Given the description of an element on the screen output the (x, y) to click on. 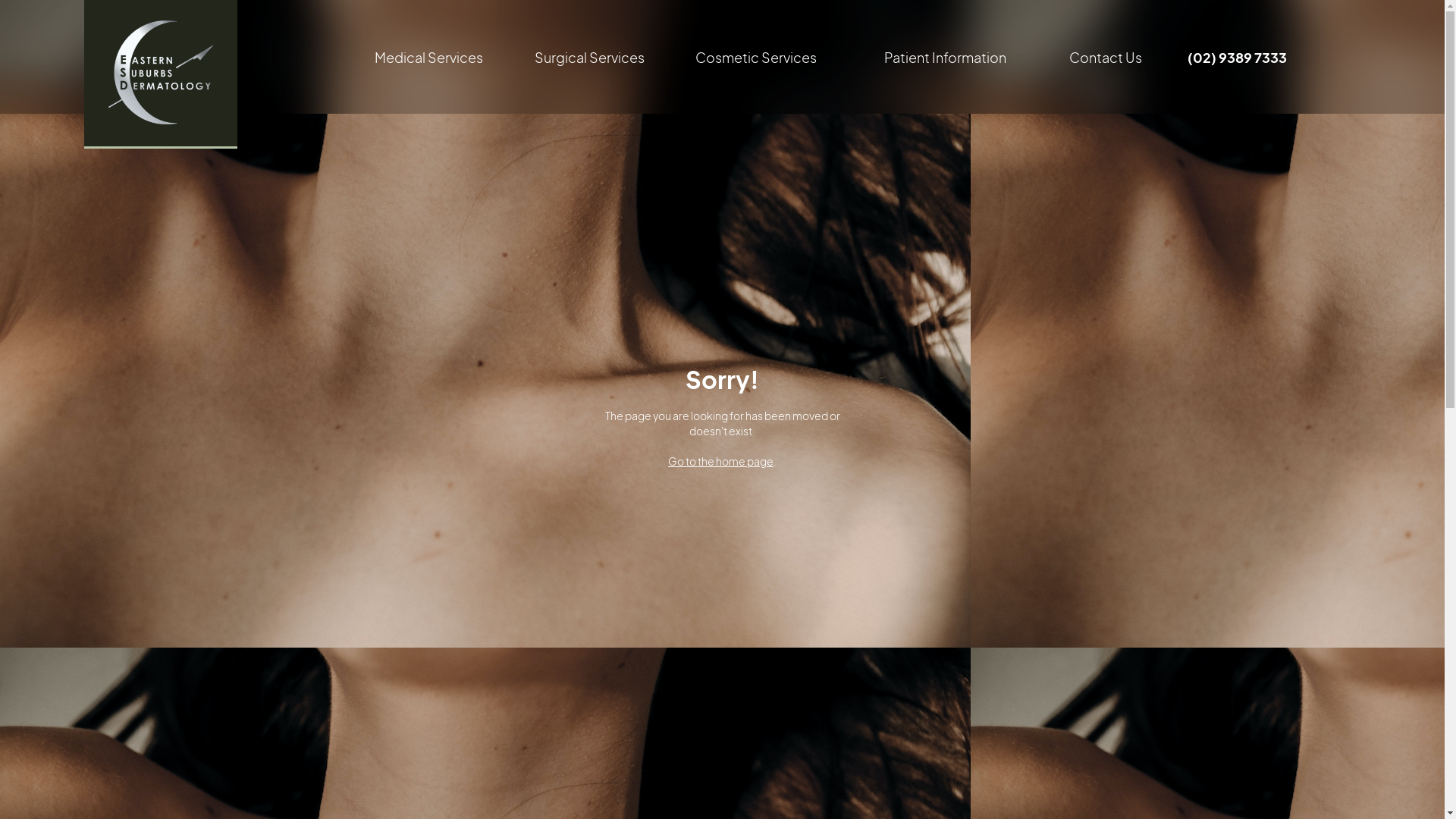
Go to the home page Element type: text (720, 460)
Surgical Services Element type: text (572, 56)
Medical Services Element type: text (428, 56)
(02) 9389 7333 Element type: text (1236, 56)
Cosmetic Services Element type: text (755, 56)
Contact Us Element type: text (1105, 56)
Patient Information Element type: text (945, 56)
